Given the description of an element on the screen output the (x, y) to click on. 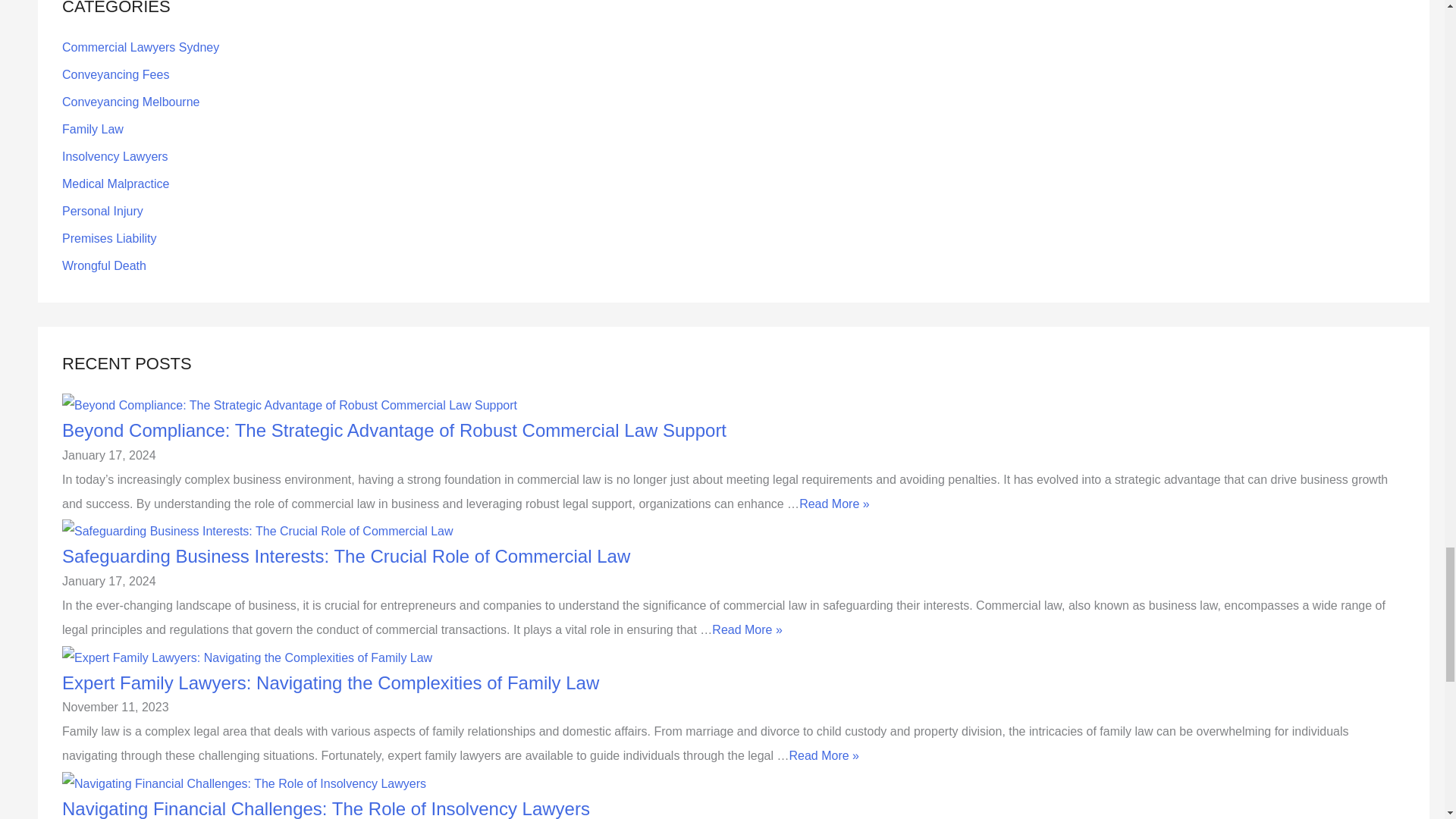
Conveyancing Melbourne (130, 101)
Insolvency Lawyers (115, 155)
Premises Liability (108, 237)
Conveyancing Fees (115, 74)
Commercial Lawyers Sydney (140, 47)
Wrongful Death (104, 265)
Medical Malpractice (115, 183)
Personal Injury (102, 210)
